Given the description of an element on the screen output the (x, y) to click on. 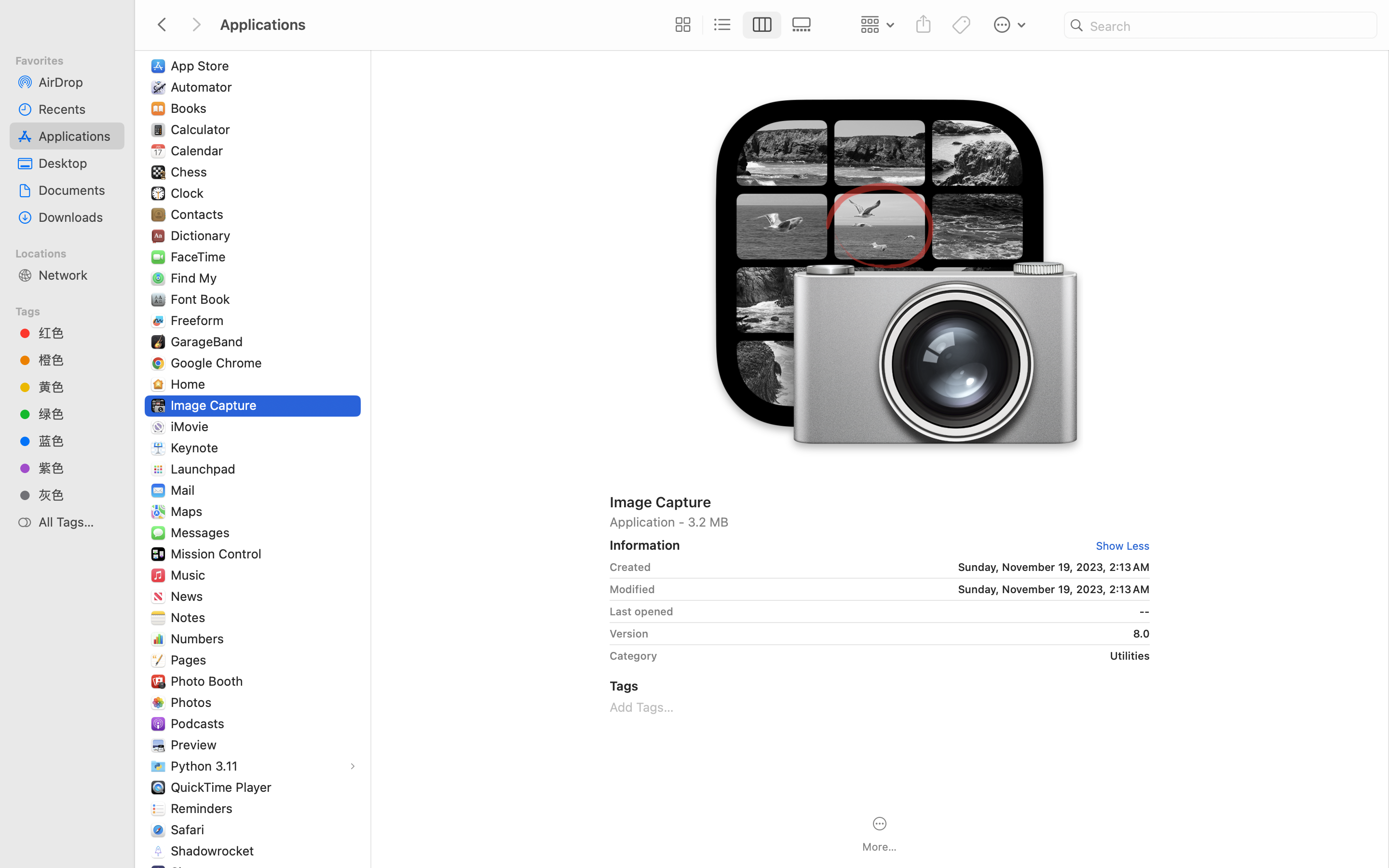
Books Element type: AXTextField (190, 107)
蓝色 Element type: AXStaticText (77, 440)
Utilities Element type: AXStaticText (906, 655)
Image Capture Element type: AXStaticText (879, 501)
8.0 Element type: AXStaticText (901, 633)
